Given the description of an element on the screen output the (x, y) to click on. 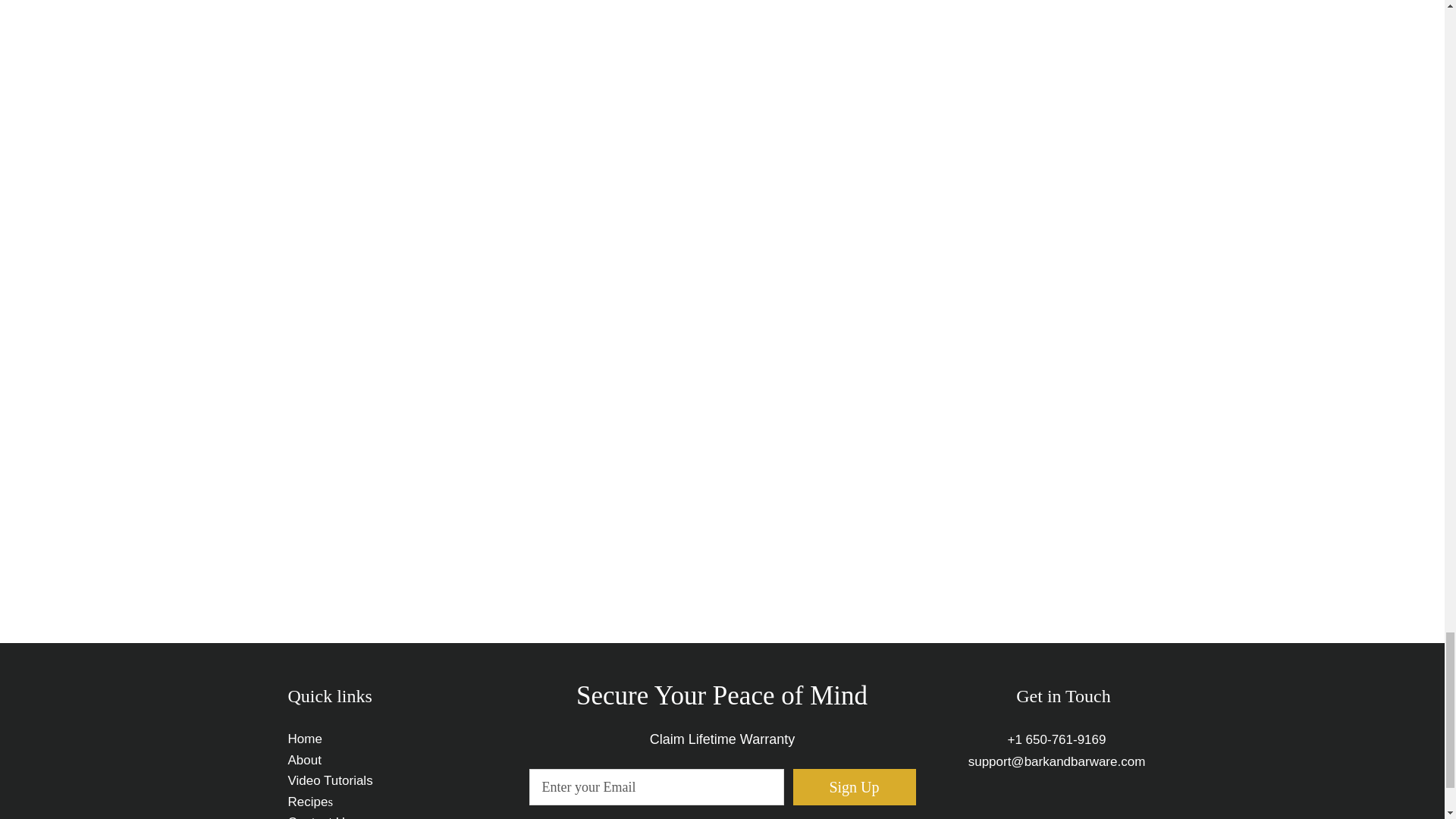
Contact Us (320, 816)
About  (306, 759)
Recipes (310, 801)
Sign Up (854, 787)
Video Tutorials (330, 780)
Home (304, 739)
